Given the description of an element on the screen output the (x, y) to click on. 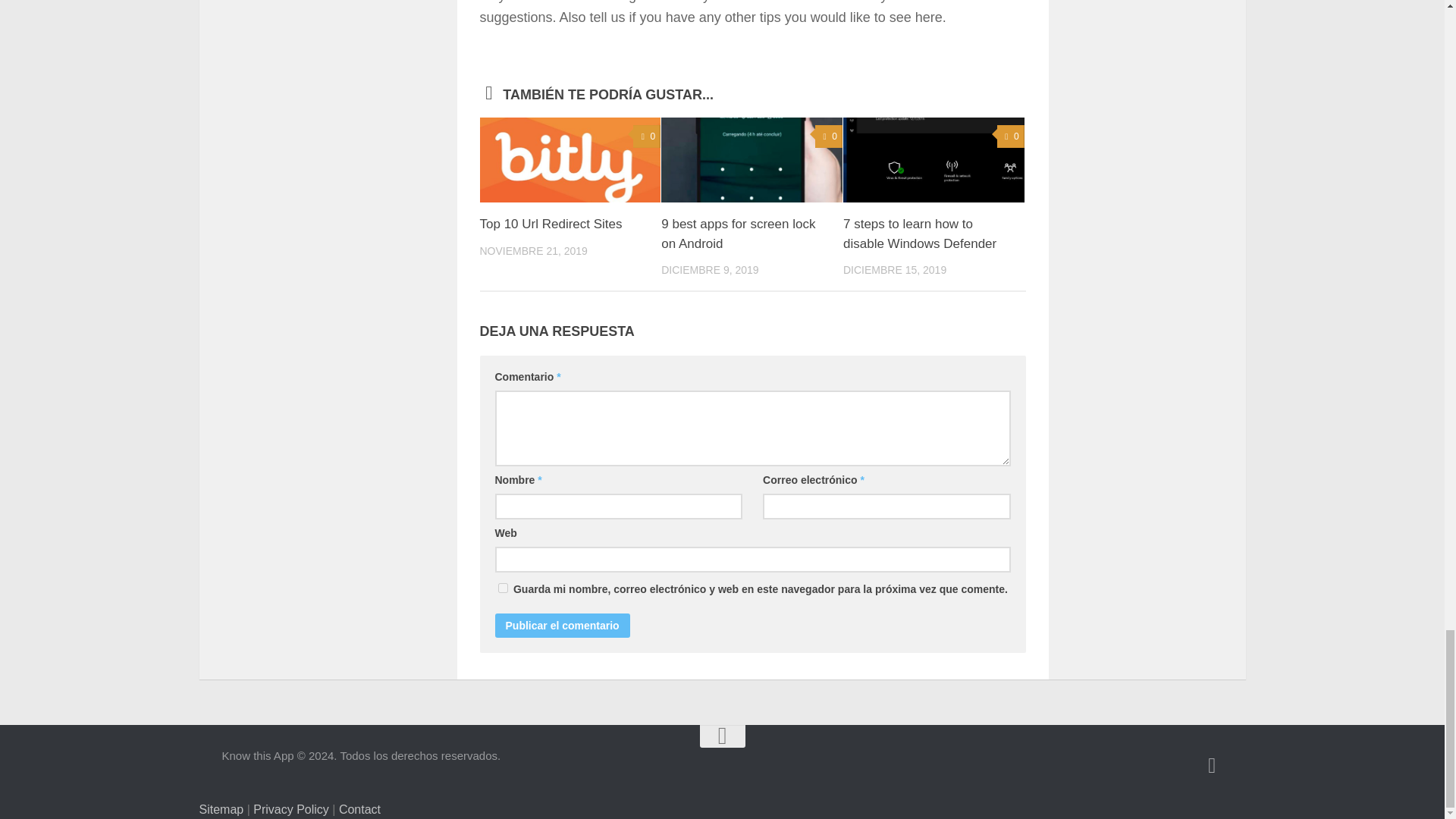
Enlace permanente a Top 10 Url Redirect Sites (550, 223)
7 steps to learn how to disable Windows Defender (919, 233)
9 best apps for screen lock on Android (738, 233)
0 (829, 136)
0 (1011, 136)
0 (647, 136)
Publicar el comentario (561, 625)
Publicar el comentario (561, 625)
Enlace permanente a 9 best apps for screen lock on Android (738, 233)
Top 10 Url Redirect Sites (550, 223)
yes (501, 587)
